Given the description of an element on the screen output the (x, y) to click on. 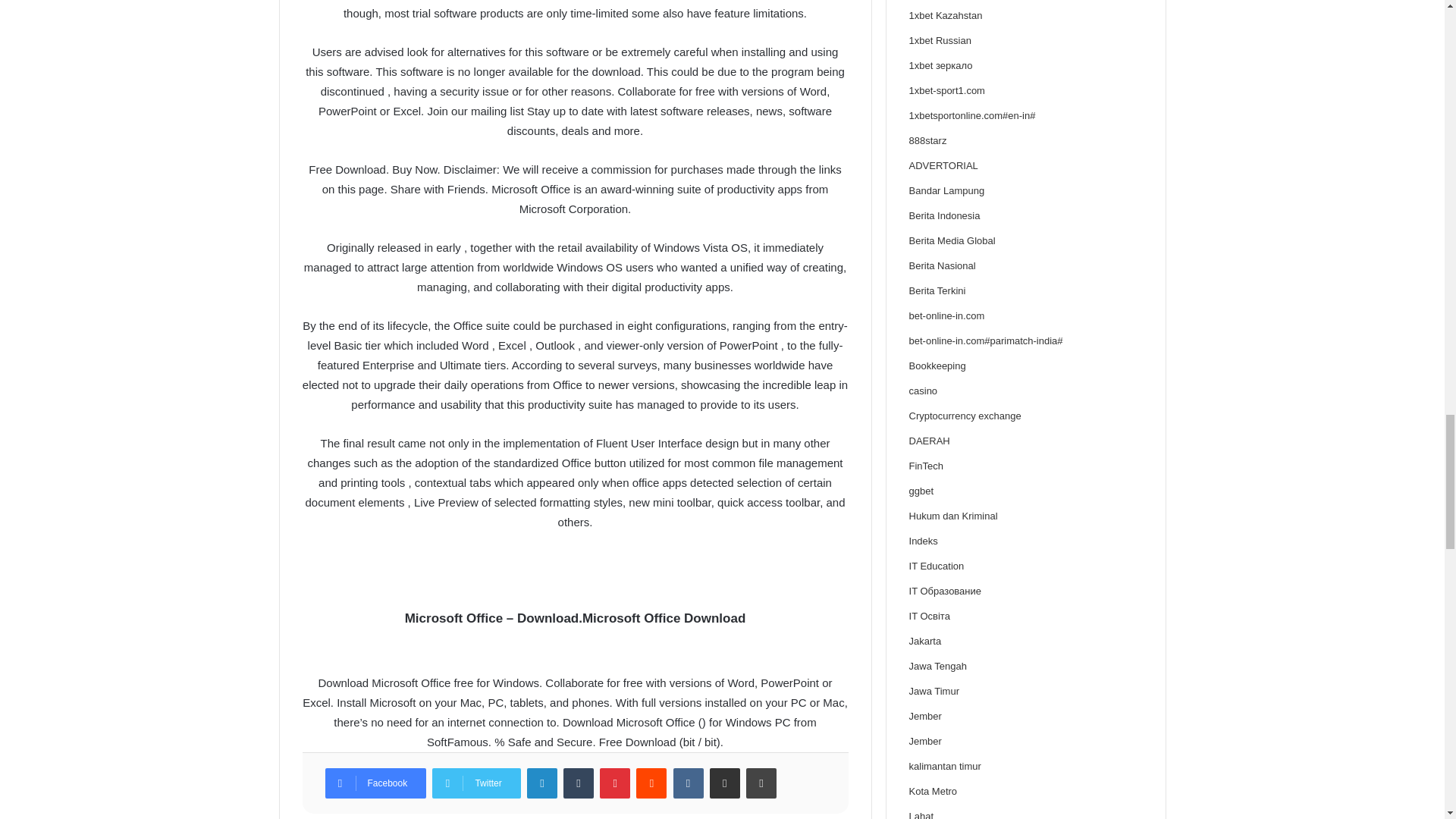
VKontakte (687, 783)
Share via Email (724, 783)
Print (760, 783)
LinkedIn (542, 783)
Facebook (375, 783)
Pinterest (614, 783)
Reddit (651, 783)
Reddit (651, 783)
LinkedIn (542, 783)
Twitter (475, 783)
Facebook (375, 783)
Twitter (475, 783)
Tumblr (578, 783)
Tumblr (578, 783)
Print (760, 783)
